Given the description of an element on the screen output the (x, y) to click on. 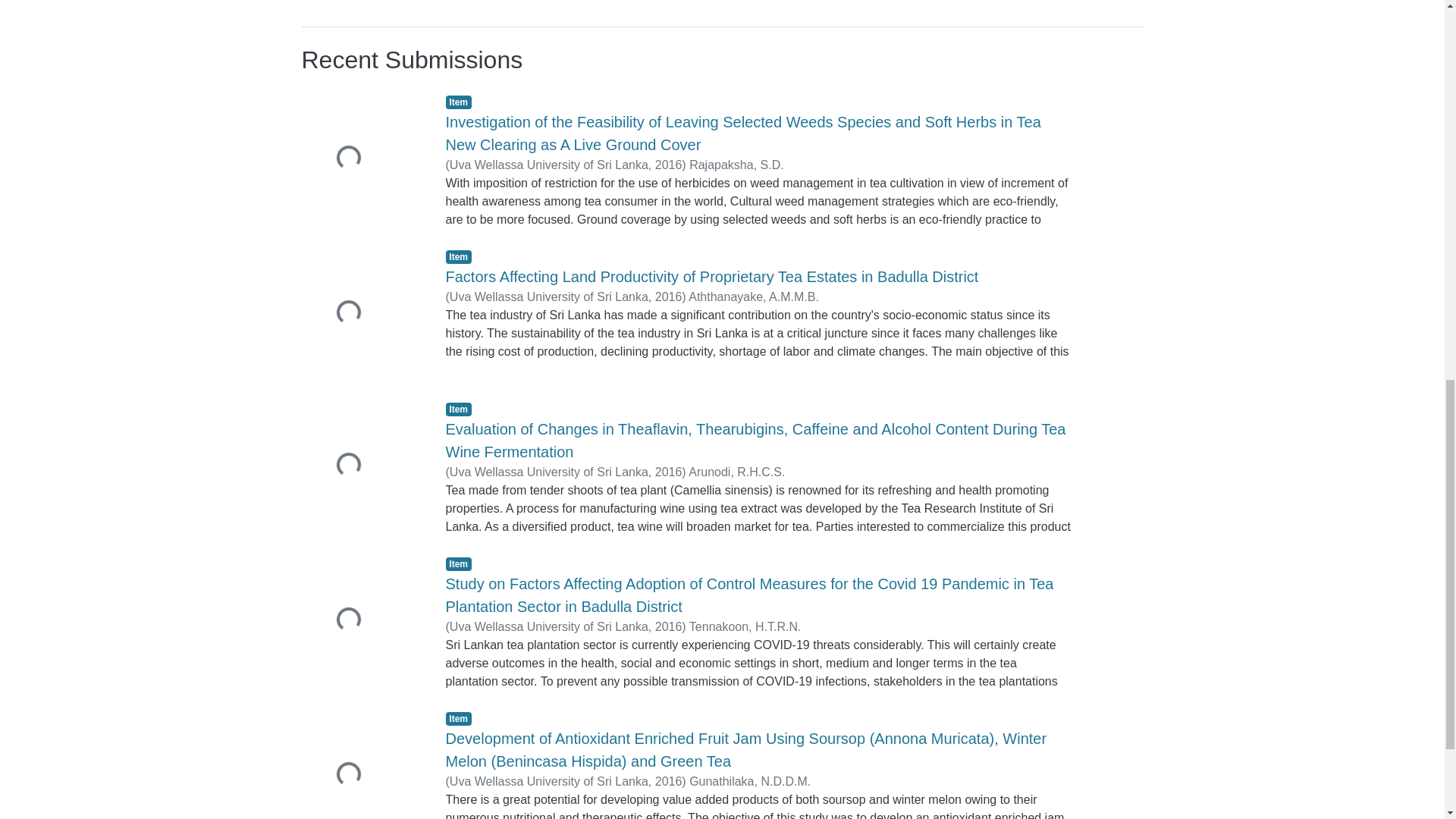
Loading... (362, 621)
Loading... (362, 466)
Loading... (362, 314)
Loading... (362, 159)
